Given the description of an element on the screen output the (x, y) to click on. 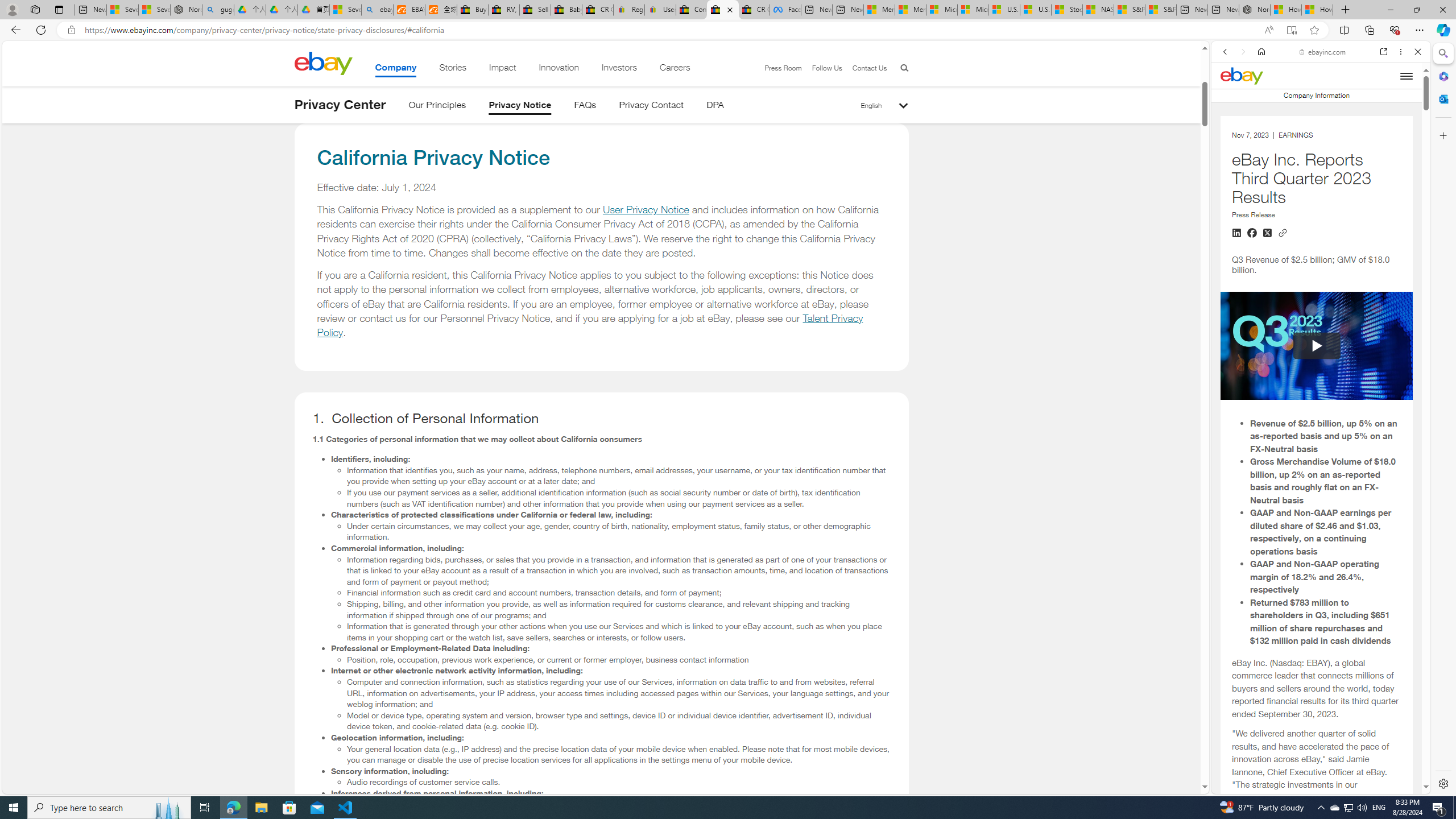
About eBay (1315, 548)
Settings (1442, 783)
Customize (1442, 135)
eBay Inc. Reports Third Quarter 2023 Results (1315, 564)
Share on X (Twitter) (1267, 232)
includes synonym (1315, 767)
Global web icon (1232, 548)
